Given the description of an element on the screen output the (x, y) to click on. 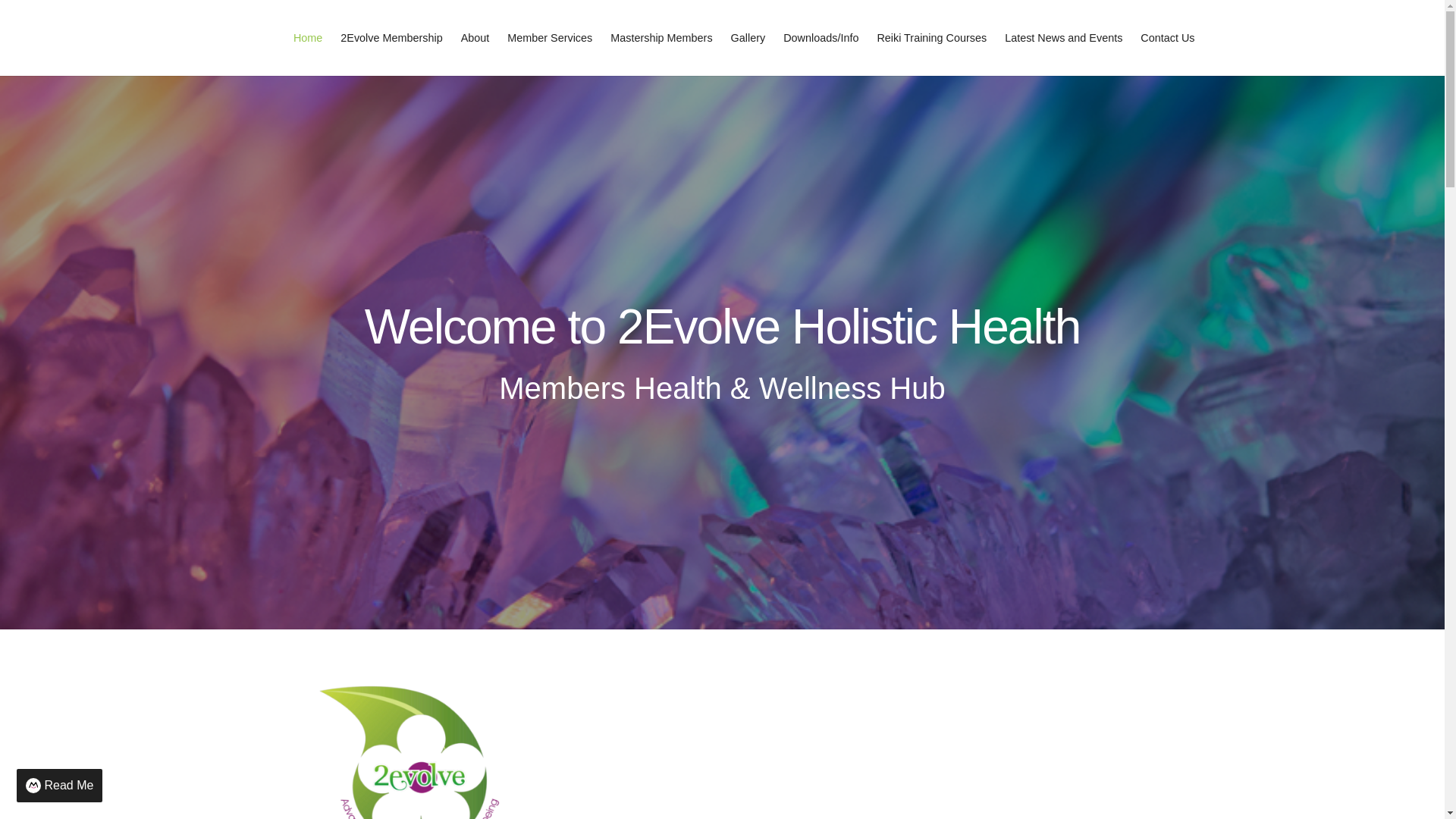
Contact Us (1167, 38)
Mastership Members (660, 38)
Reiki Training Courses (931, 38)
2Evolve Membership (391, 38)
Latest News and Events (1063, 38)
Member Services (549, 38)
